Given the description of an element on the screen output the (x, y) to click on. 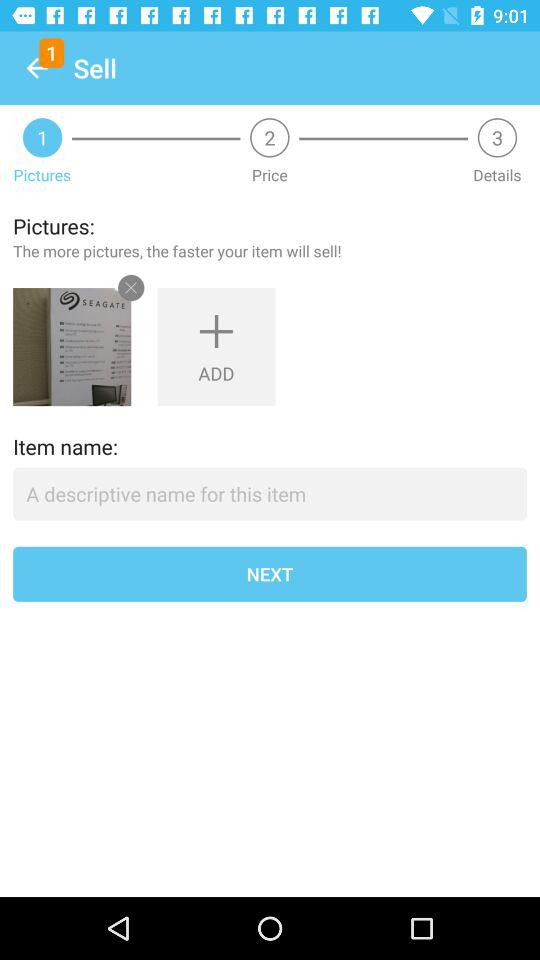
click icon next to the sell (36, 68)
